Given the description of an element on the screen output the (x, y) to click on. 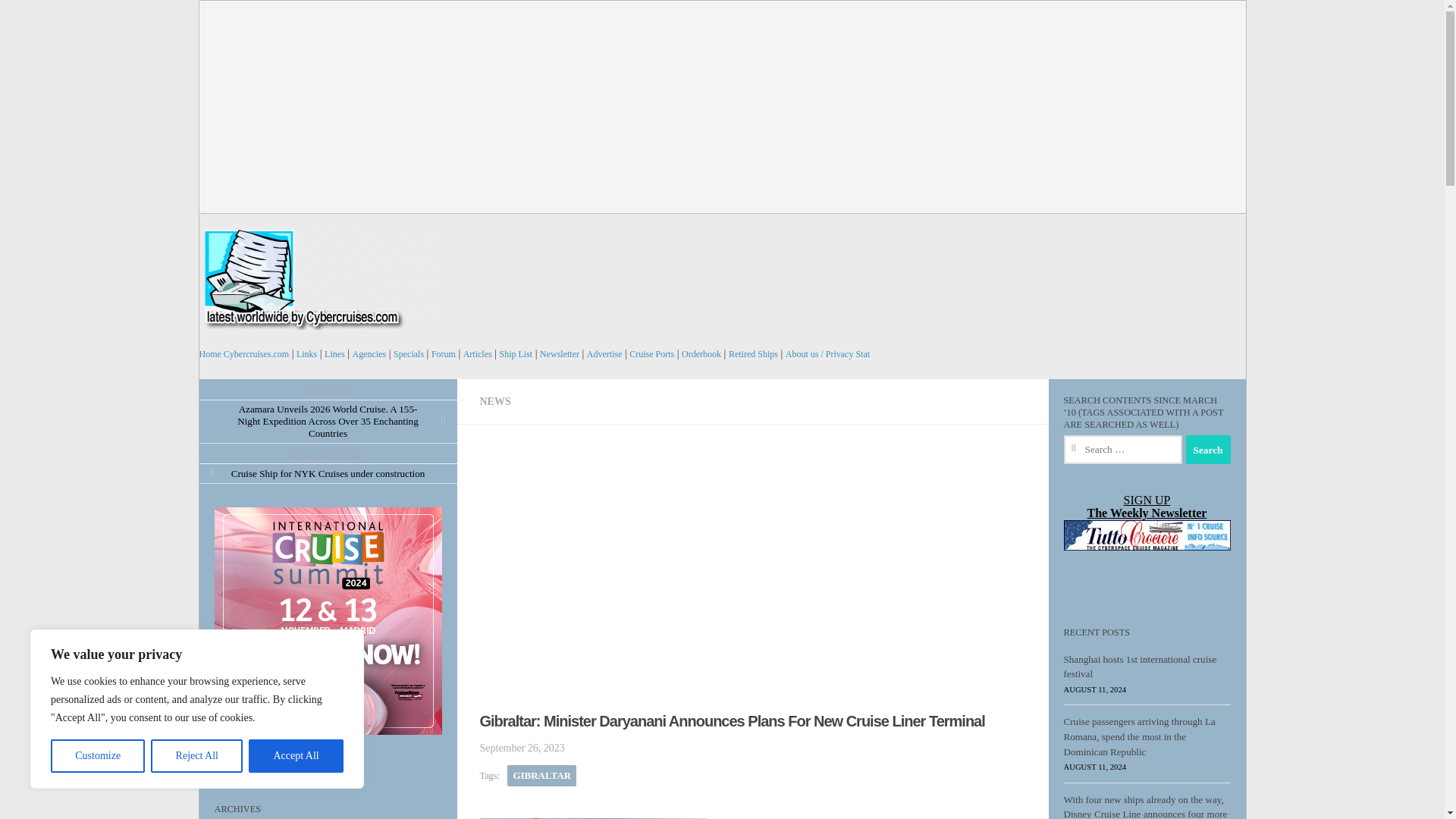
Accept All (295, 756)
Customize (97, 756)
Search (1208, 449)
Advertise (604, 353)
Search (1208, 449)
Links (307, 353)
Agencies (369, 353)
NEWS (495, 401)
International Cruise Summit 2024 (333, 620)
Reject All (197, 756)
